Given the description of an element on the screen output the (x, y) to click on. 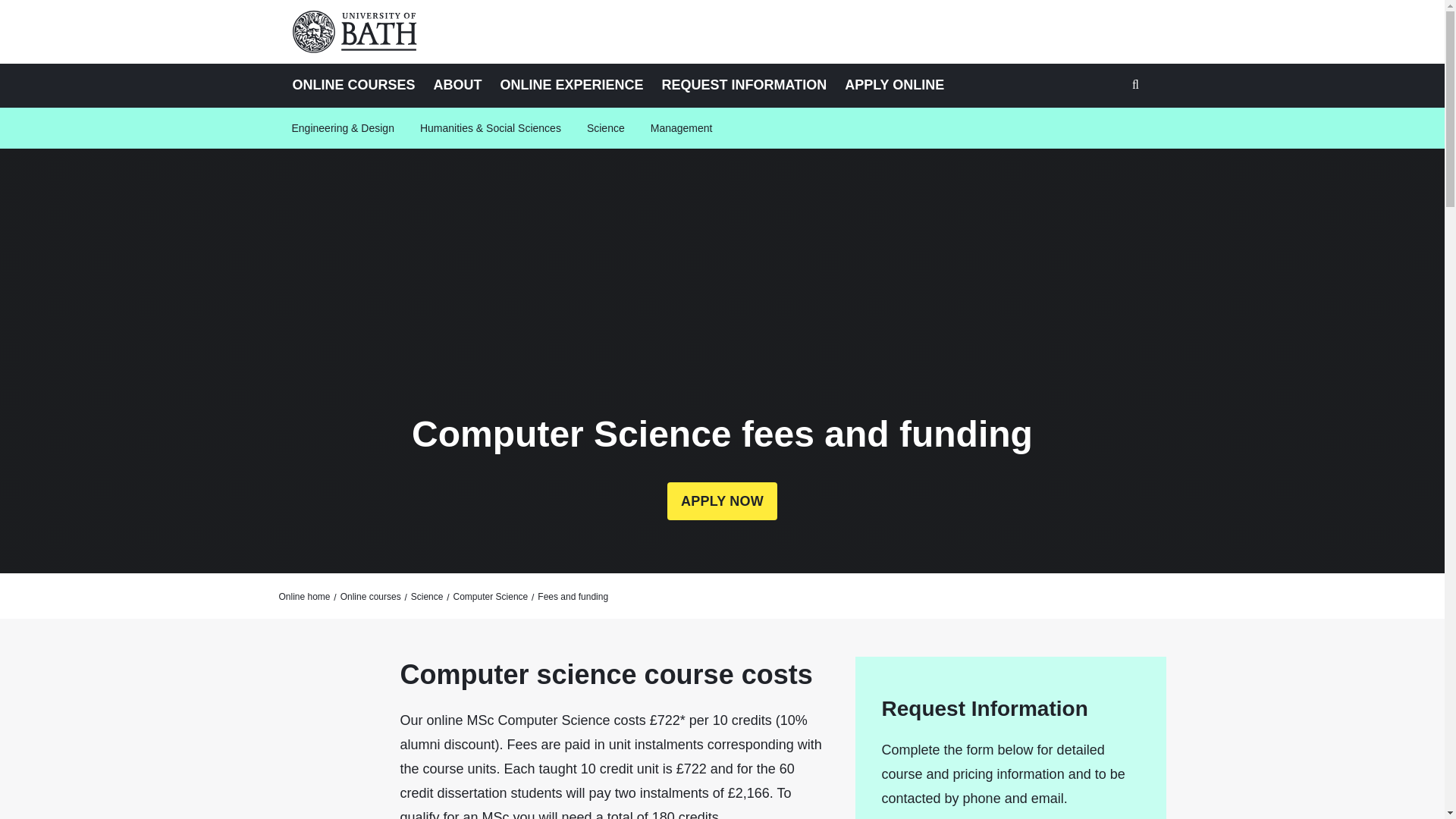
open search bar (1137, 86)
REQUEST INFORMATION (743, 85)
Science (605, 127)
ONLINE EXPERIENCE (572, 85)
APPLY ONLINE (894, 85)
Search (1137, 88)
ONLINE COURSES (354, 85)
ABOUT (458, 85)
